Given the description of an element on the screen output the (x, y) to click on. 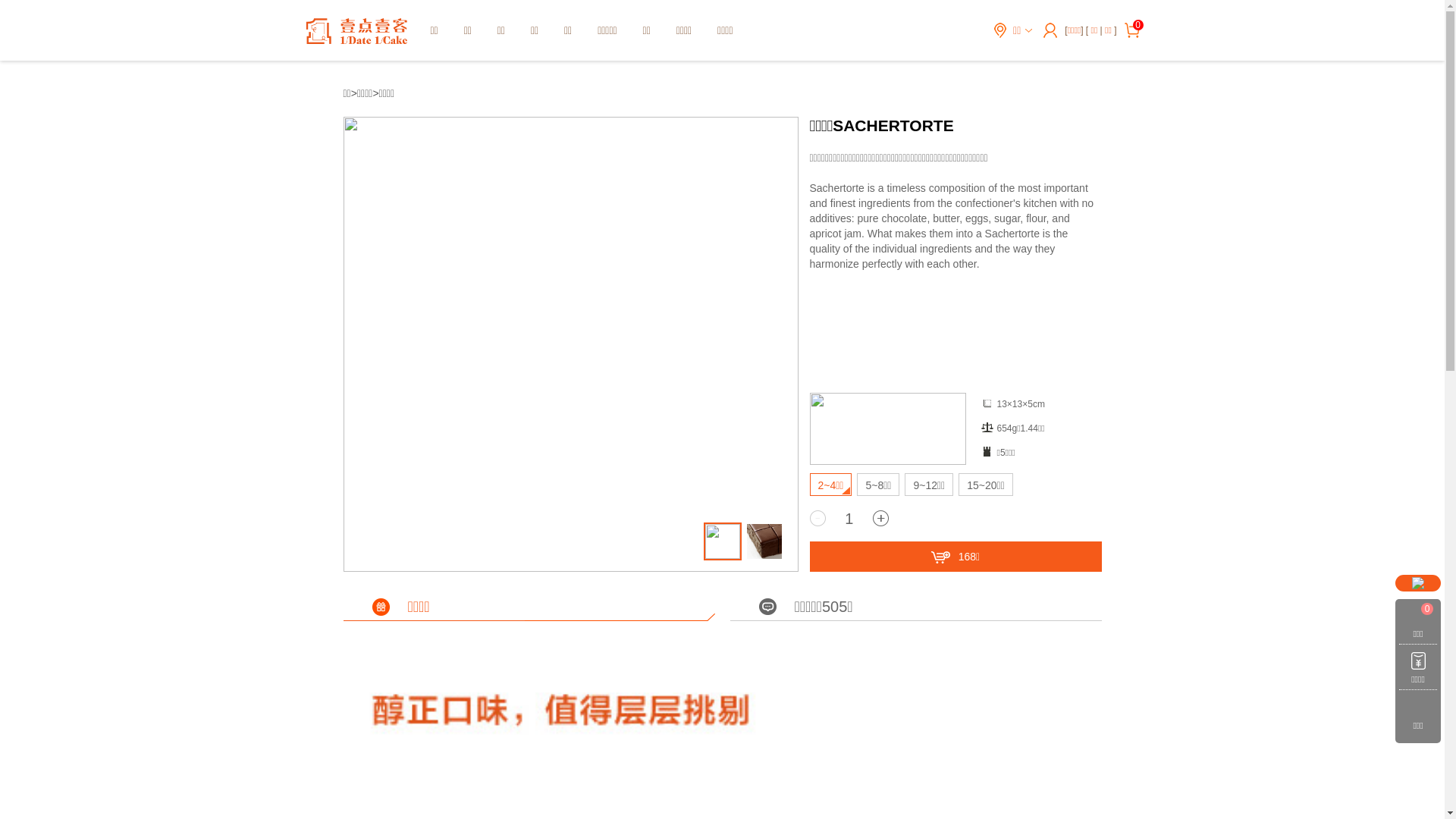
0 Element type: text (1137, 24)
